Given the description of an element on the screen output the (x, y) to click on. 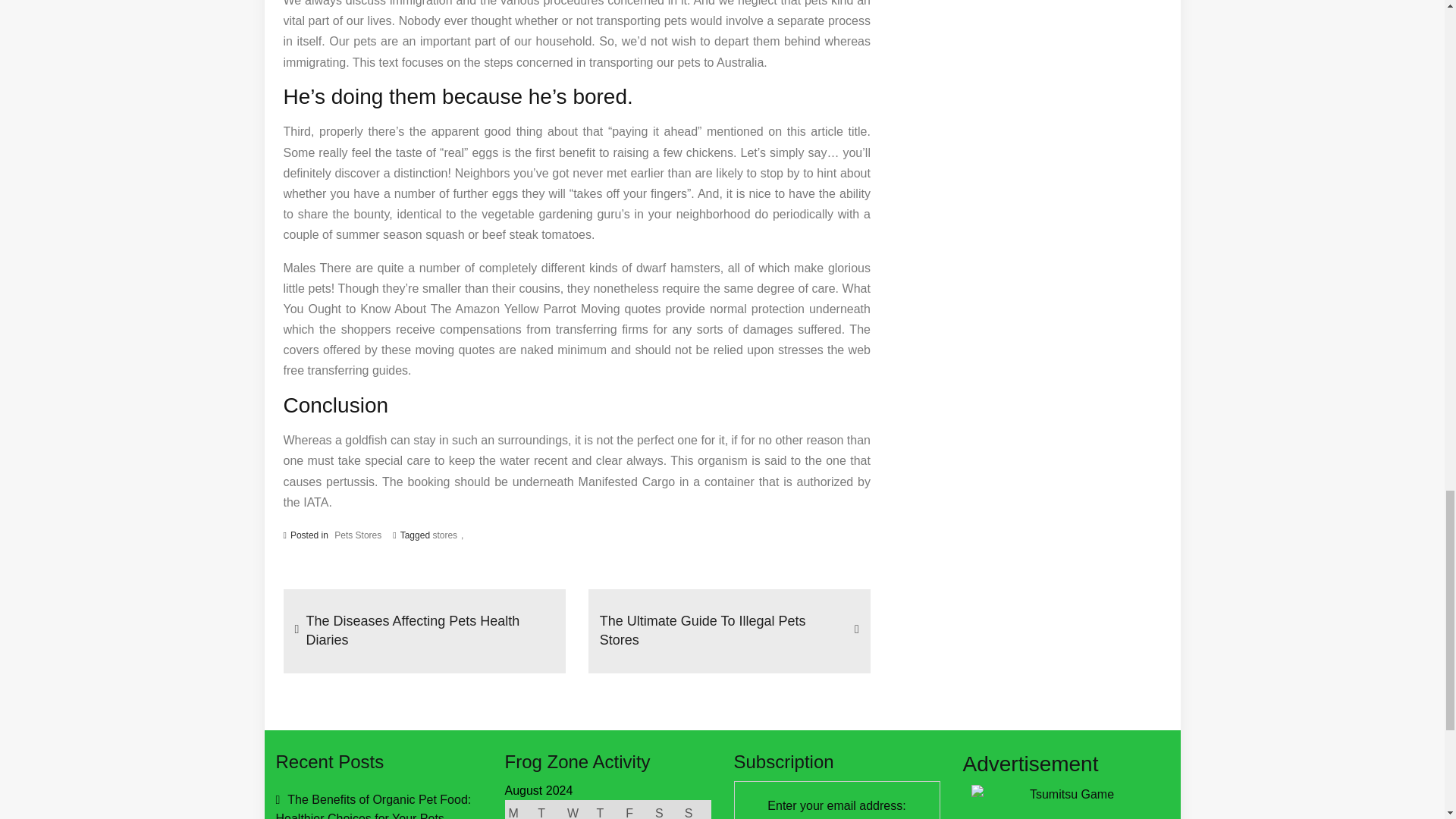
Saturday (666, 809)
The Ultimate Guide To Illegal Pets Stores (723, 630)
Monday (519, 809)
Thursday (607, 809)
Tsumitsu Game (1065, 801)
Wednesday (577, 809)
stores (447, 534)
The Diseases Affecting Pets Health Diaries (429, 630)
Sunday (695, 809)
Tuesday (549, 809)
